Given the description of an element on the screen output the (x, y) to click on. 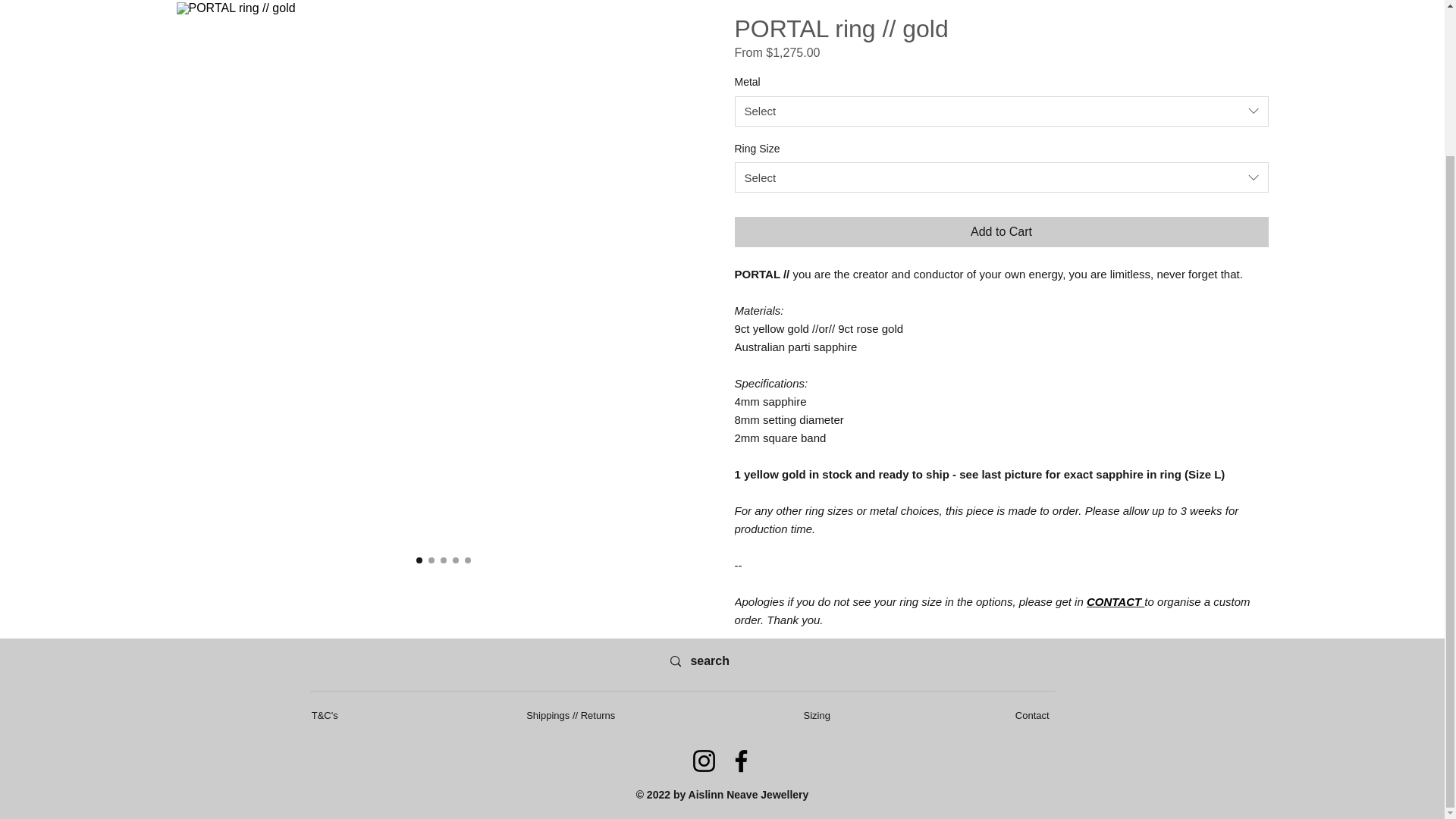
Contact (1031, 715)
Add to Cart (1000, 232)
Select (1000, 110)
Sizing (817, 715)
CONTACT (1115, 601)
Select (1000, 177)
